Given the description of an element on the screen output the (x, y) to click on. 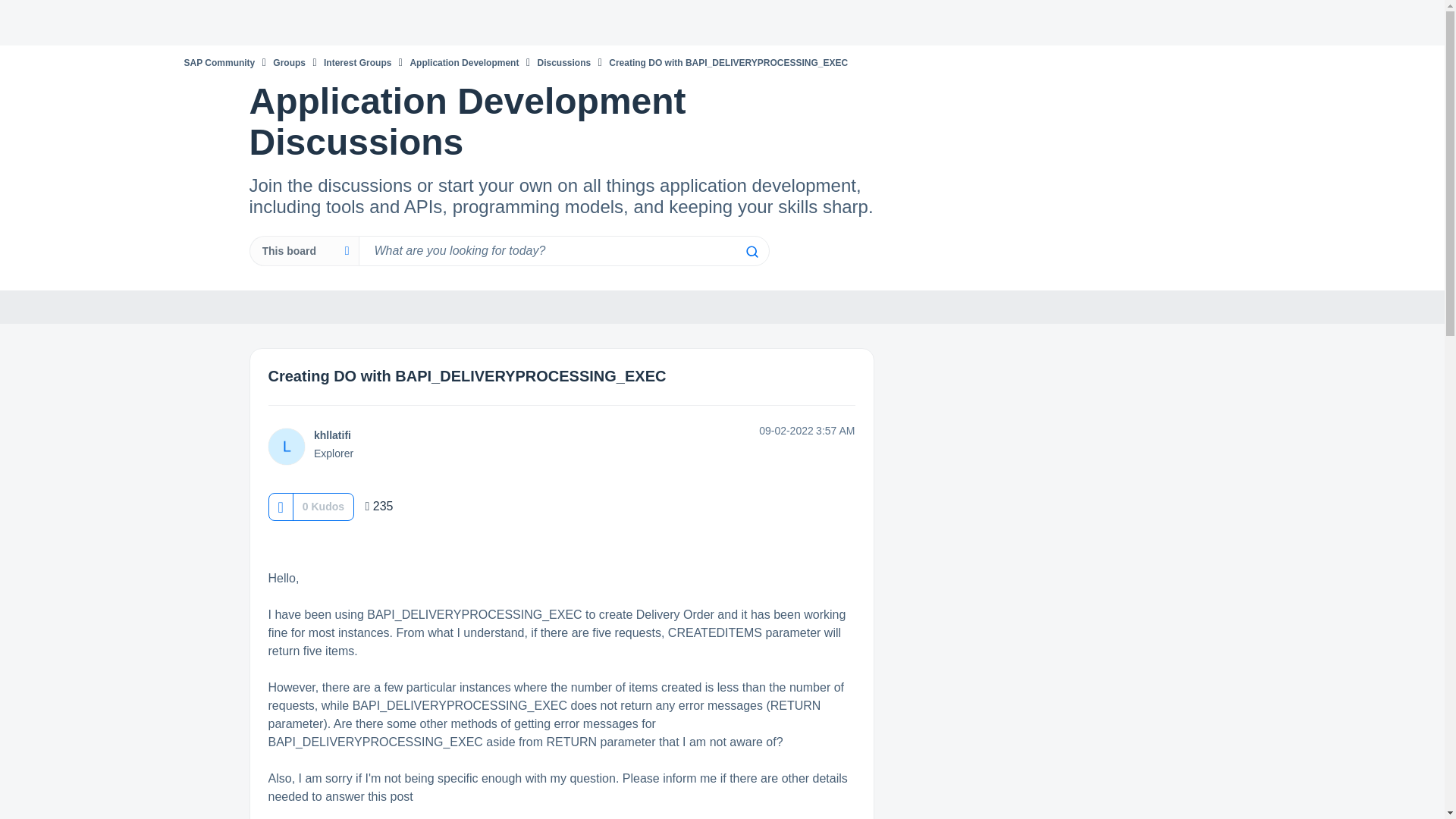
Search Granularity (303, 250)
Interest Groups (357, 62)
SAP Community (218, 62)
Search (750, 251)
Groups (289, 62)
Application Development (463, 62)
Discussions (564, 62)
khllatifi (285, 446)
Search (750, 251)
The total number of kudos this post has received. (323, 506)
Search (750, 251)
khllatifi (332, 435)
Click here to give kudos to this post. (279, 506)
Search (563, 250)
